Given the description of an element on the screen output the (x, y) to click on. 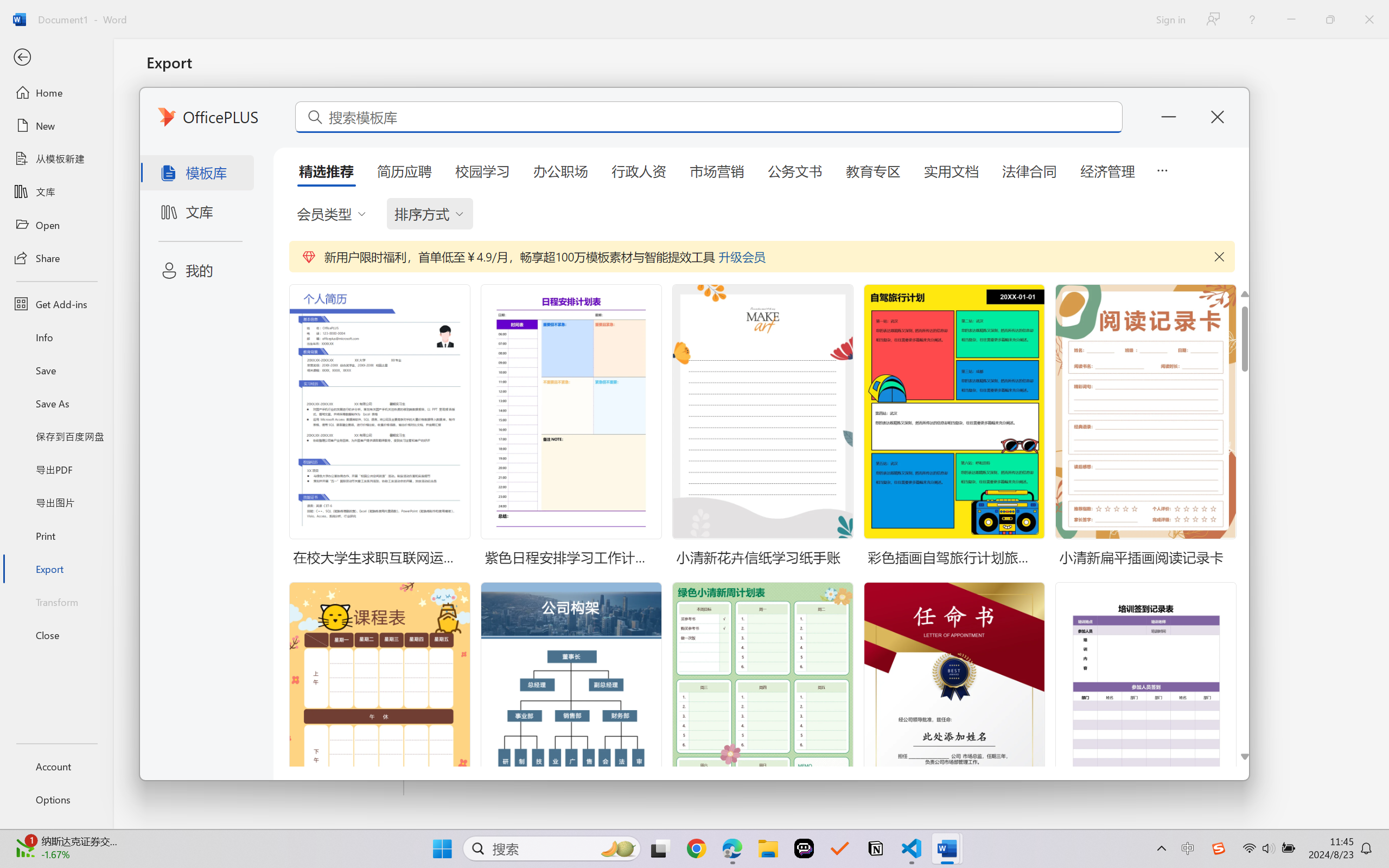
Save As (56, 403)
Transform (56, 601)
5 more tabs (1161, 169)
